Given the description of an element on the screen output the (x, y) to click on. 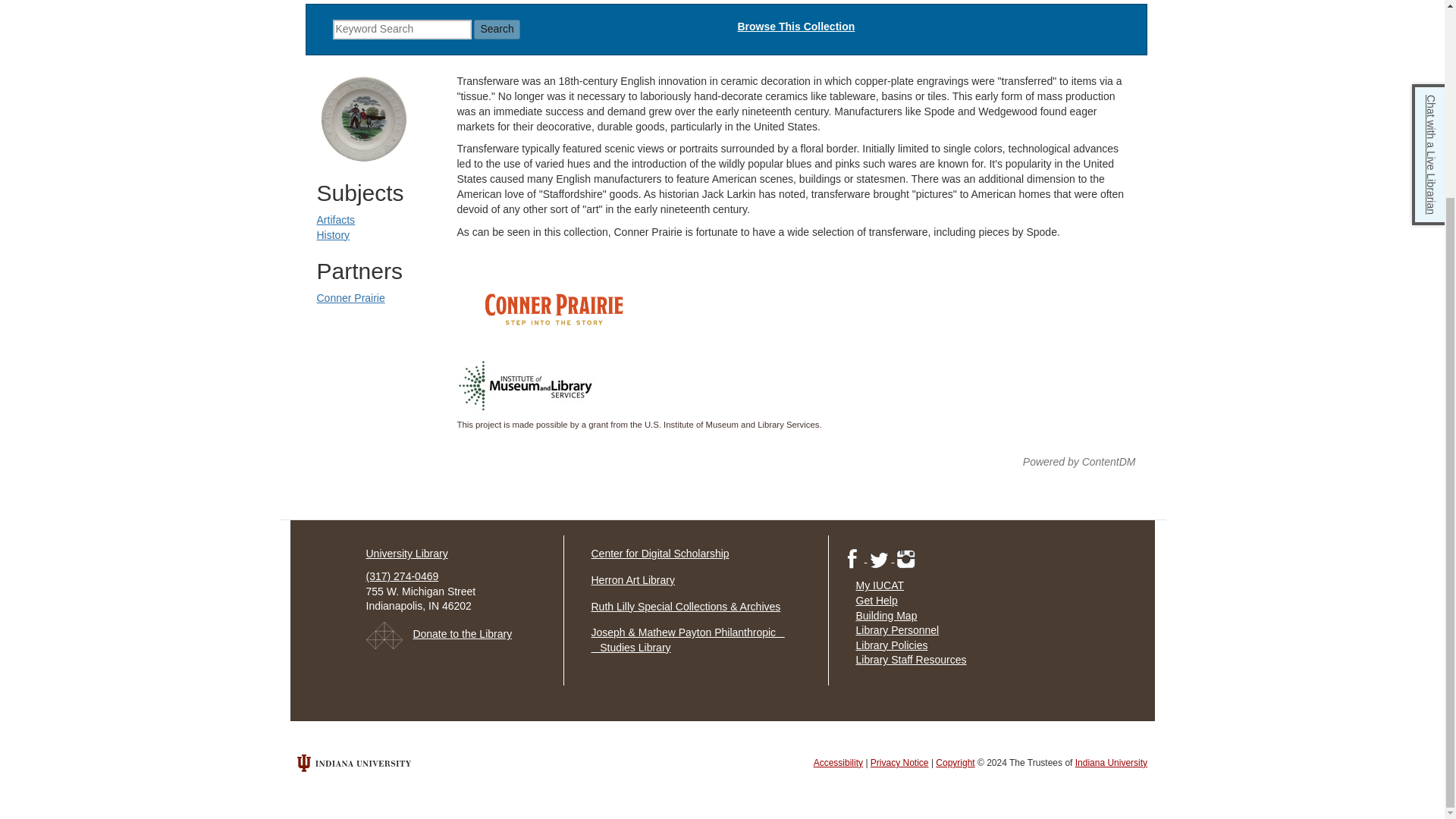
imls logo (526, 384)
Search (496, 29)
